Given the description of an element on the screen output the (x, y) to click on. 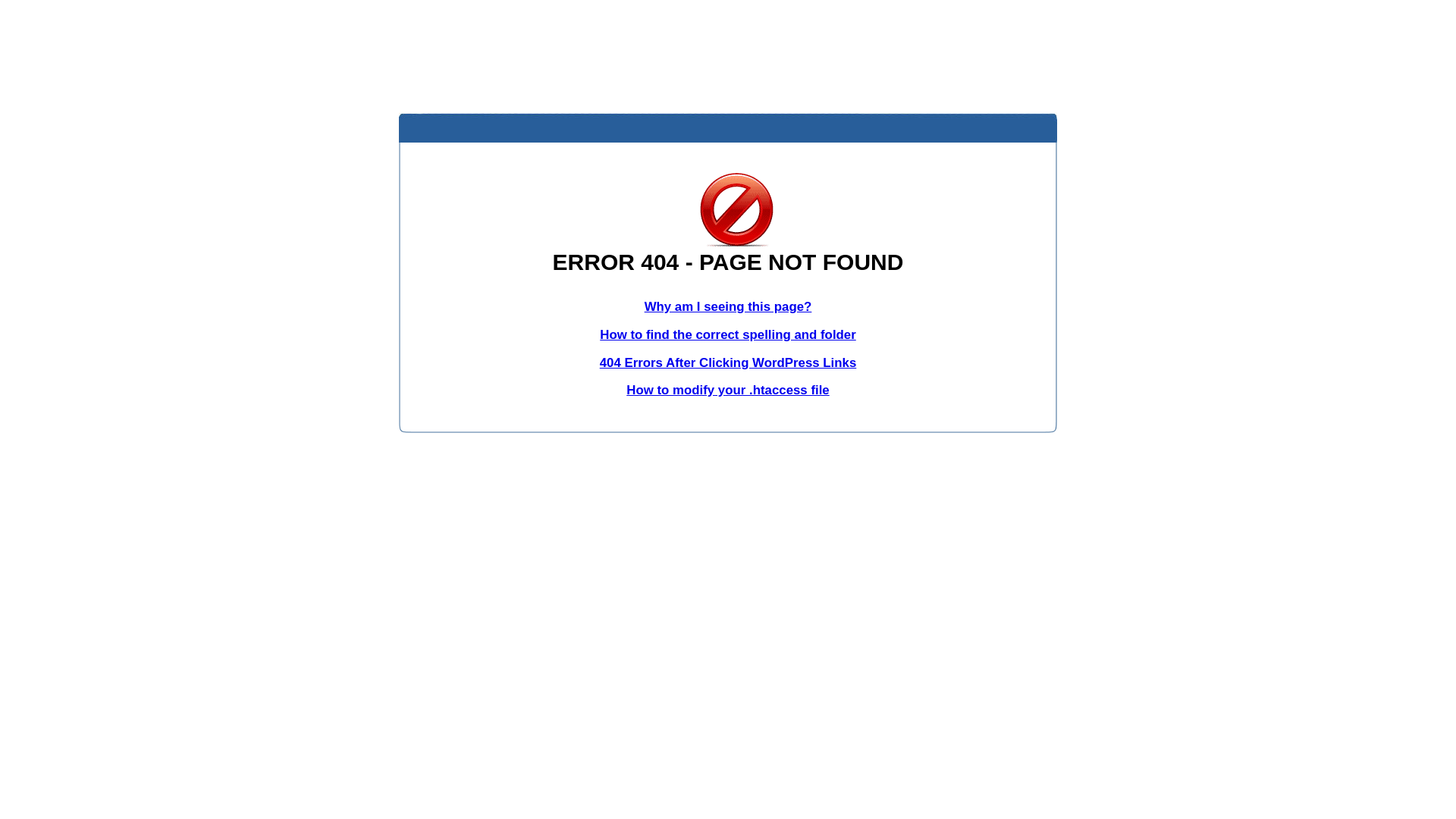
How to modify your .htaccess file Element type: text (727, 389)
How to find the correct spelling and folder Element type: text (727, 334)
404 Errors After Clicking WordPress Links Element type: text (727, 362)
Why am I seeing this page? Element type: text (728, 306)
